Given the description of an element on the screen output the (x, y) to click on. 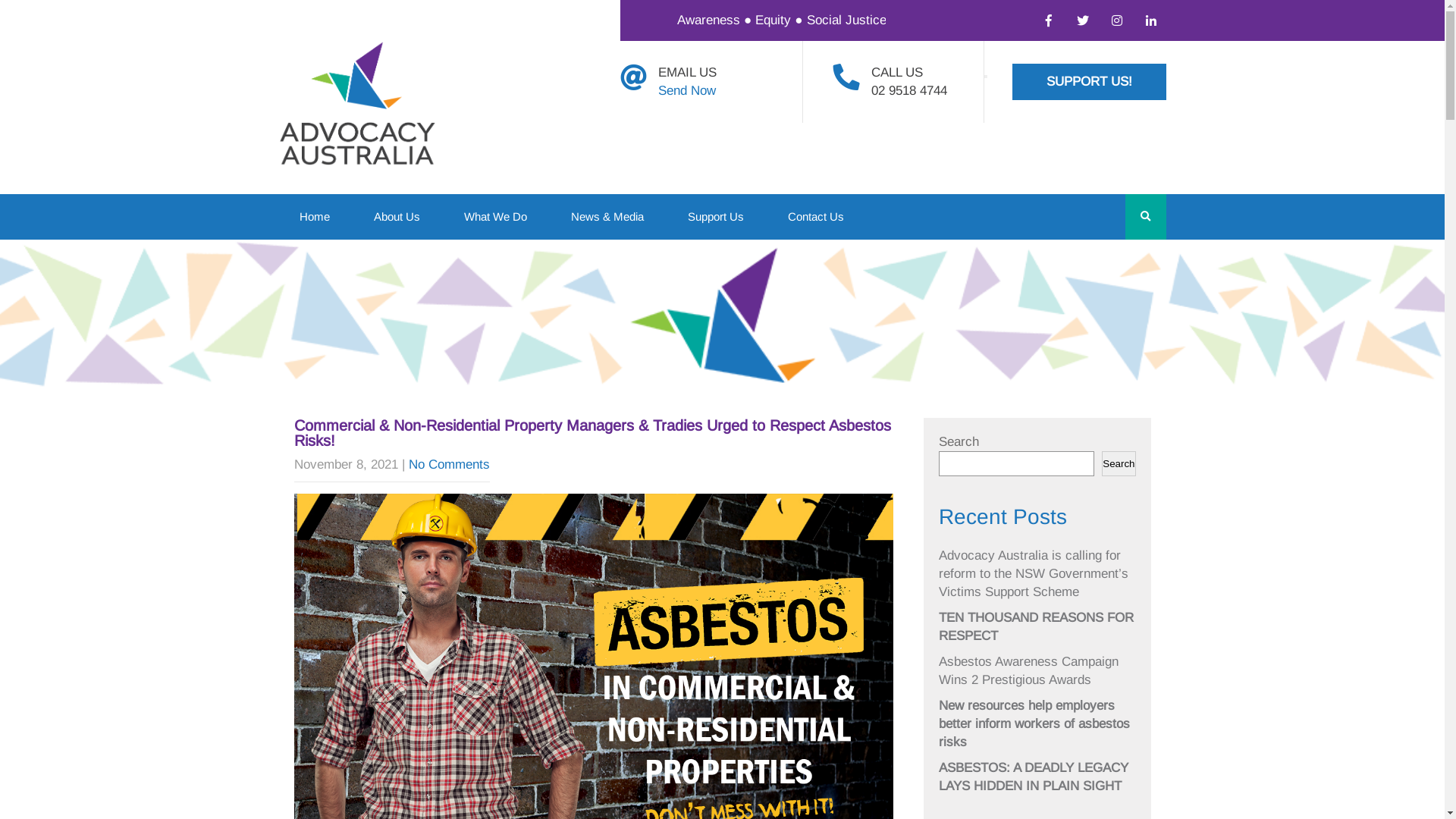
Asbestos Awareness Campaign Wins 2 Prestigious Awards Element type: text (1028, 670)
News & Media Element type: text (607, 216)
Support Us Element type: text (715, 216)
No Comments Element type: text (448, 464)
SUPPORT US! Element type: text (1088, 81)
Search Element type: text (1118, 463)
About Us Element type: text (396, 216)
Home Element type: text (314, 216)
ASBESTOS: A DEADLY LEGACY LAYS HIDDEN IN PLAIN SIGHT Element type: text (1033, 776)
TEN THOUSAND REASONS FOR RESPECT Element type: text (1035, 626)
Contact Us Element type: text (815, 216)
What We Do Element type: text (494, 216)
Send Now Element type: text (686, 90)
